Given the description of an element on the screen output the (x, y) to click on. 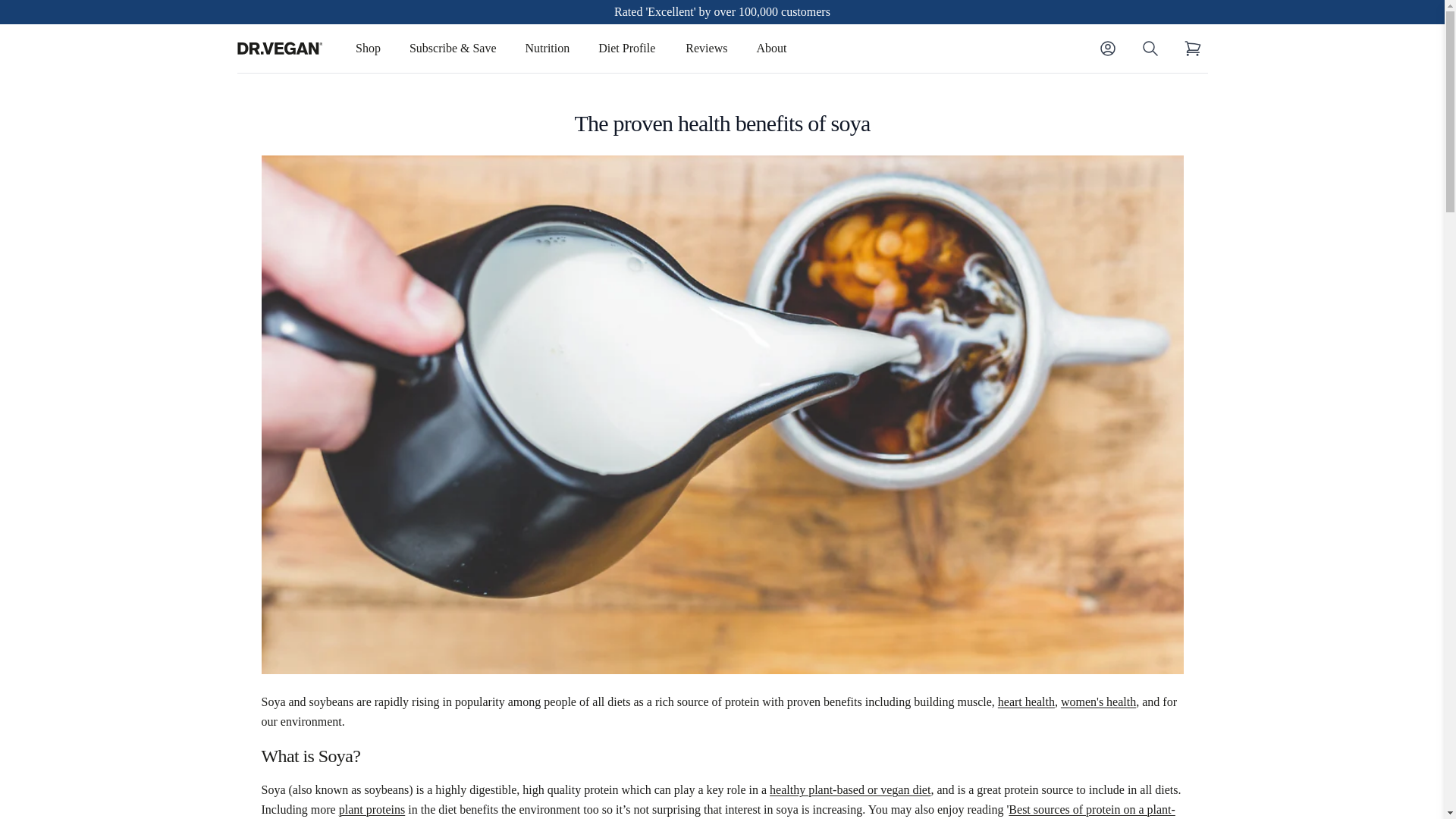
what are plant protein (372, 809)
benefits of plant-based diet (850, 789)
women's health (1098, 701)
plant-based protein (717, 811)
heart health (1025, 701)
